Given the description of an element on the screen output the (x, y) to click on. 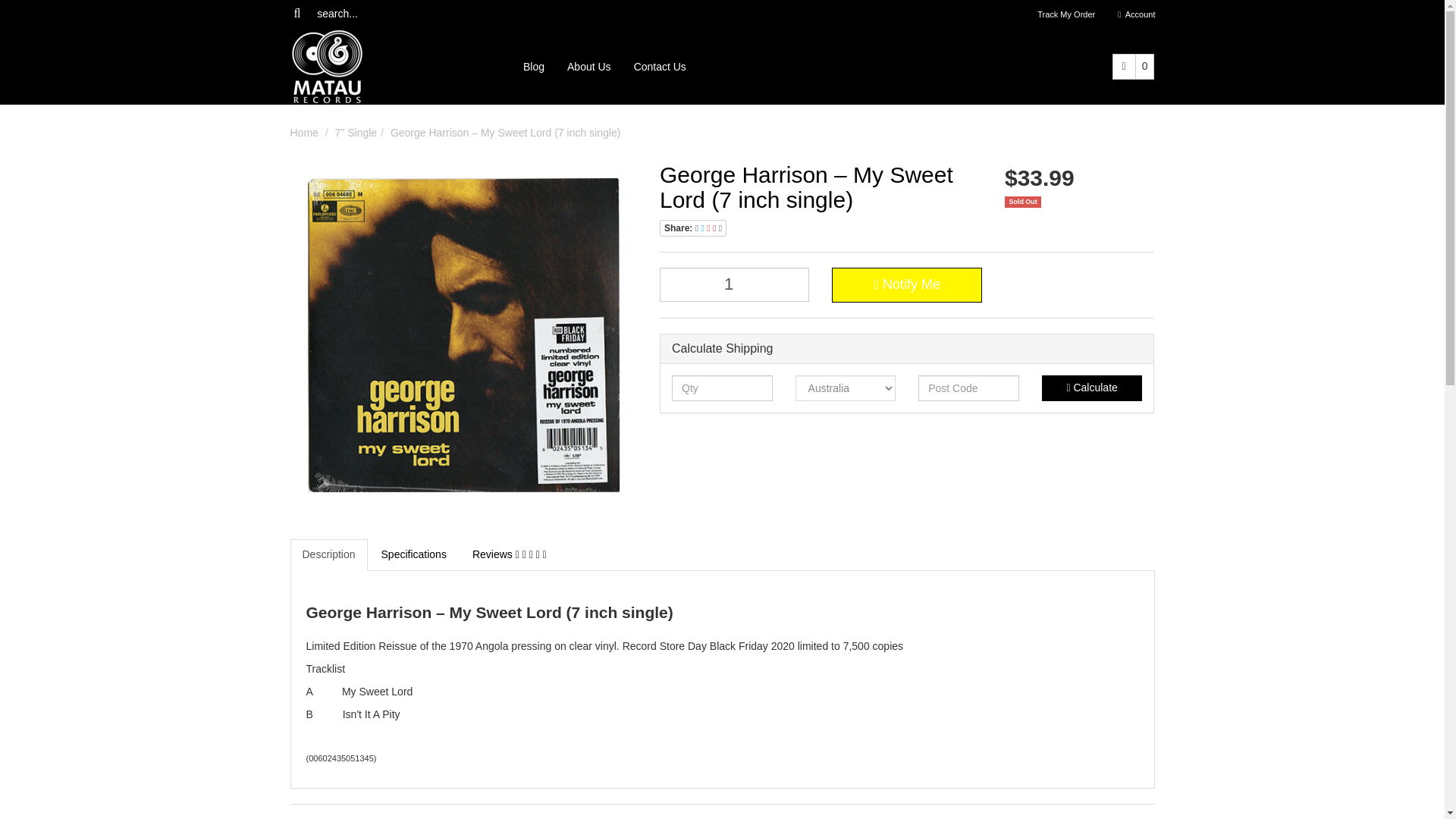
Contact Us (660, 66)
Matau Records (325, 65)
Reviews (509, 554)
Share: (692, 228)
Blog (534, 66)
 Account (1136, 14)
1 (734, 284)
About Us (589, 66)
Home (303, 132)
Calculate (1092, 388)
